Given the description of an element on the screen output the (x, y) to click on. 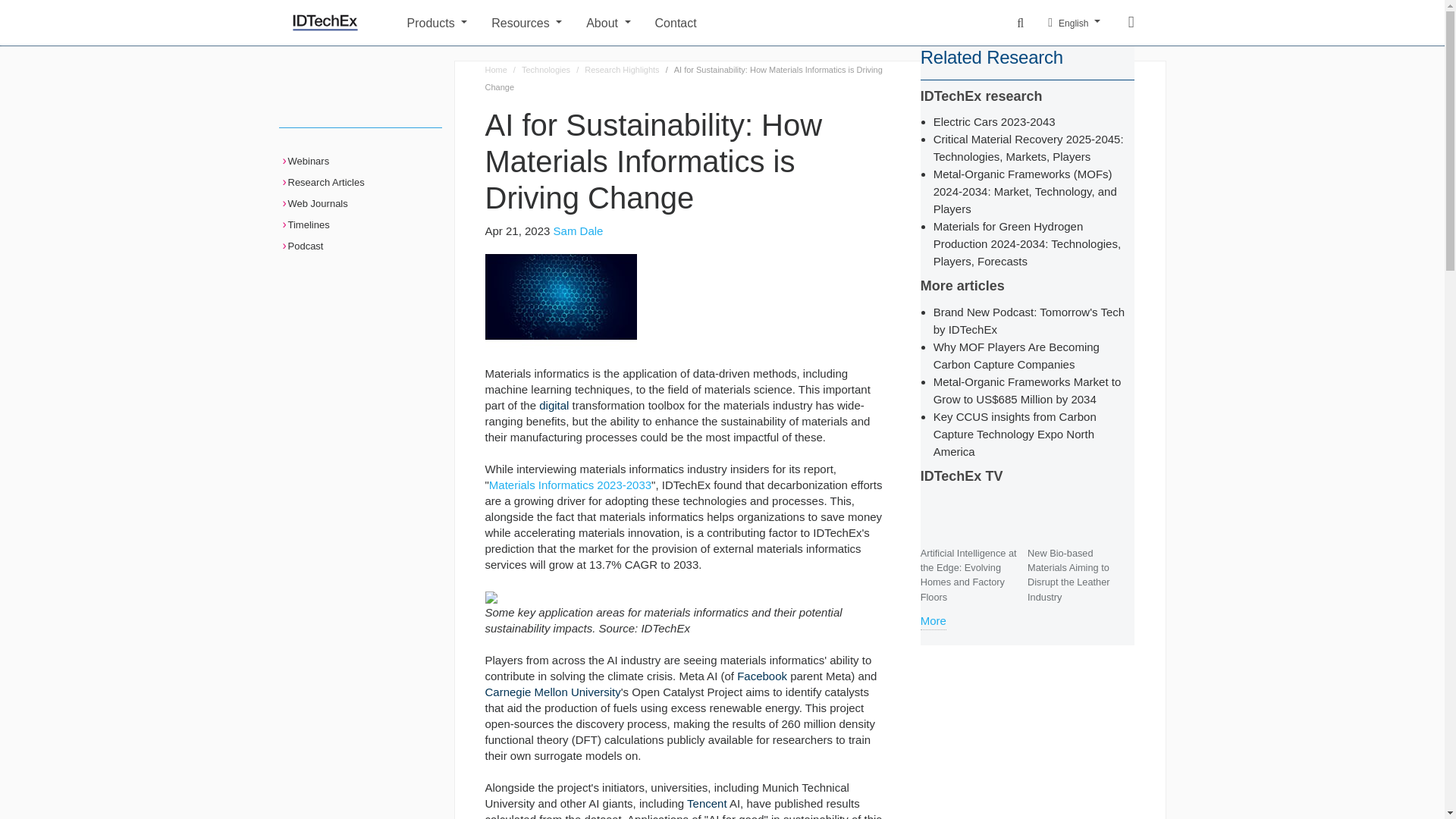
  English (1074, 22)
Contact (820, 21)
Resources (525, 21)
About (607, 21)
Products (436, 21)
